Given the description of an element on the screen output the (x, y) to click on. 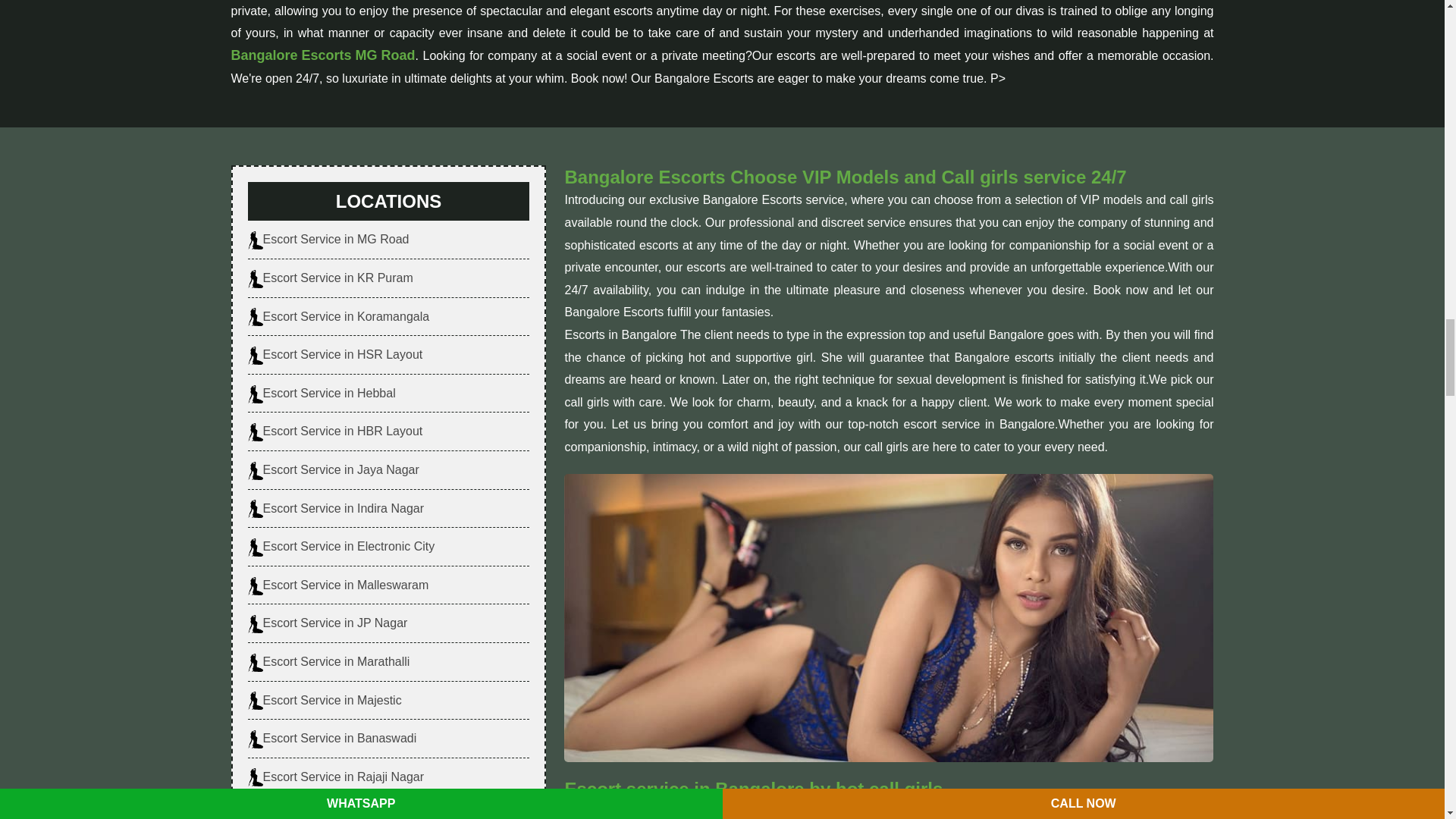
Escort Service in Electronic City (340, 546)
Escort Service in MG Road (328, 239)
Escort Service in Banaswadi (331, 738)
Escort Service in Marathalli (328, 661)
Bangalore Escorts MG Road (322, 56)
Escort Service in Indira Nagar (335, 508)
Escort Service in KR Puram (329, 277)
Escort Service in HSR Layout (334, 354)
Escort Service in Malleswaram (337, 585)
Escort Service in HBR Layout (334, 431)
Escort Service in Rajaji Nagar (335, 776)
Escort Service in Koramangala (338, 316)
Escort Service in Hebbal (320, 393)
Escort Service in JP Nagar (327, 622)
Escort Service in Silk Board (329, 811)
